Given the description of an element on the screen output the (x, y) to click on. 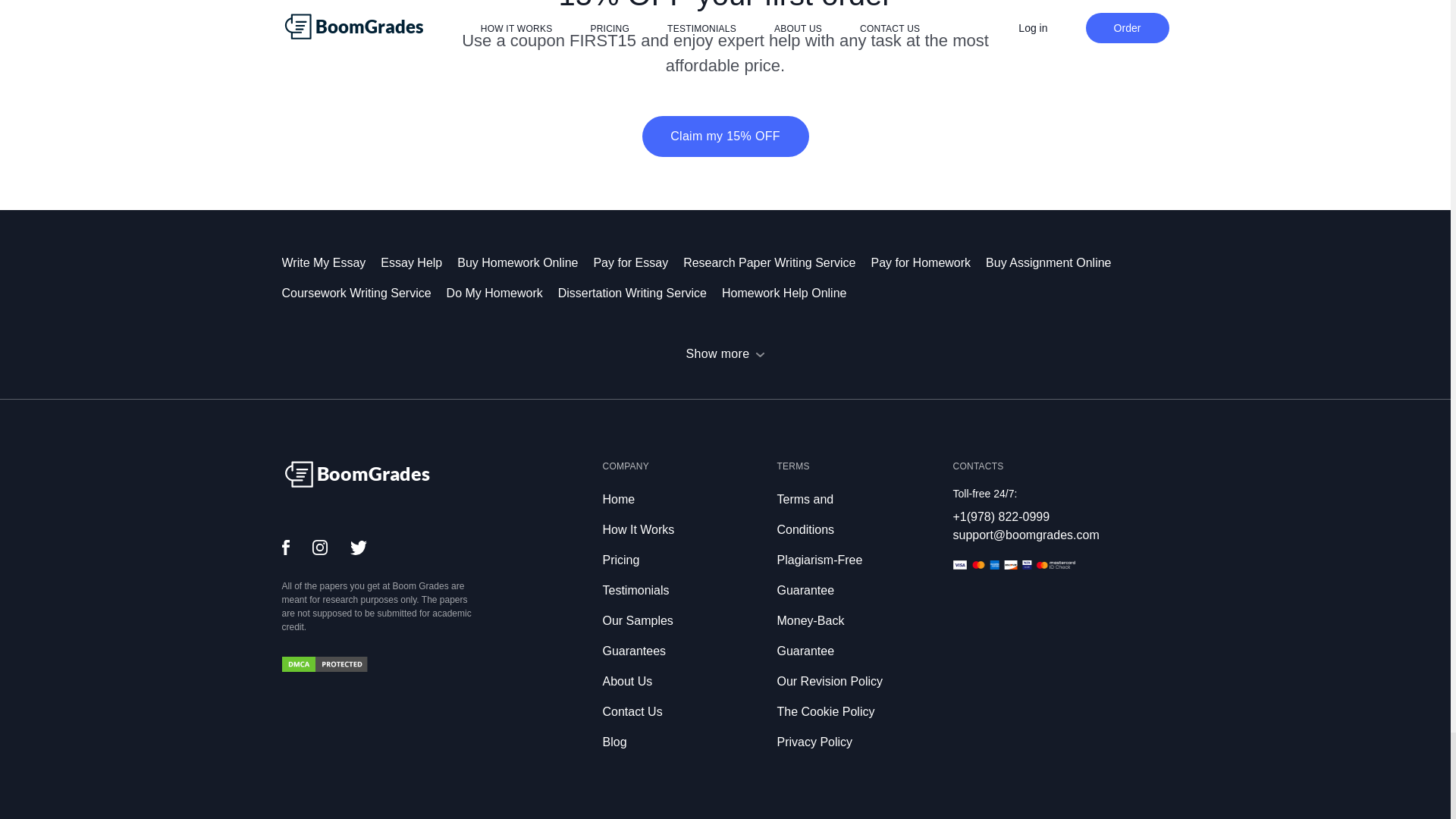
Guarantees (633, 650)
Testimonials (635, 590)
Write My Essay (331, 262)
Research Paper Writing Service (776, 262)
Home (618, 499)
Buy Assignment Online (1055, 262)
Coursework Writing Service (364, 292)
Homework Help Online (791, 292)
Pay for Essay (637, 262)
Show more (725, 353)
